Given the description of an element on the screen output the (x, y) to click on. 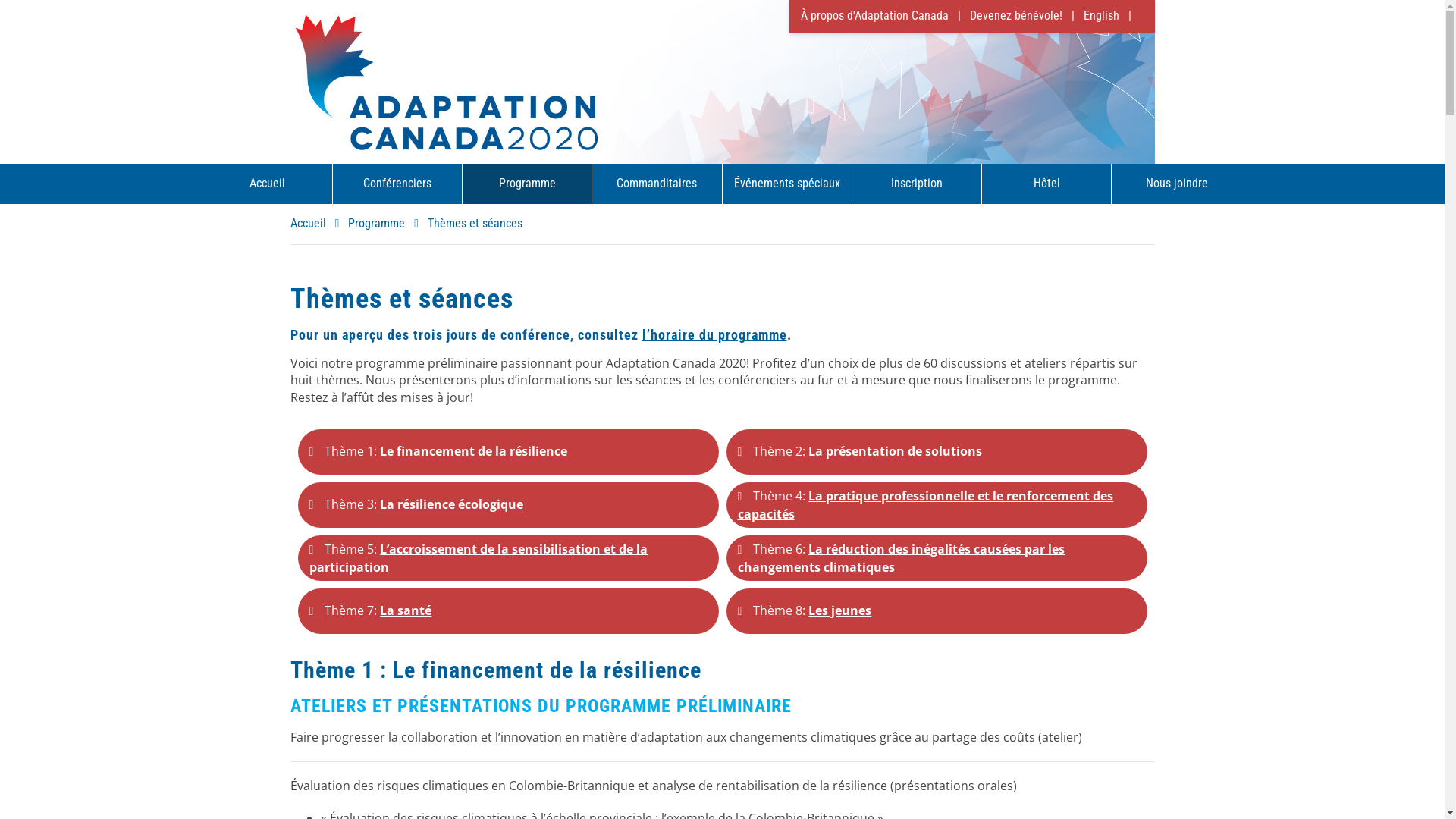
Les jeunes Element type: text (839, 610)
Accueil Element type: text (267, 183)
Accueil Element type: text (318, 223)
Nous joindre Element type: text (1176, 183)
Programme Element type: text (527, 183)
Programme Element type: text (387, 223)
Commanditaires Element type: text (656, 183)
English Element type: text (1110, 15)
Inscription Element type: text (917, 183)
